Given the description of an element on the screen output the (x, y) to click on. 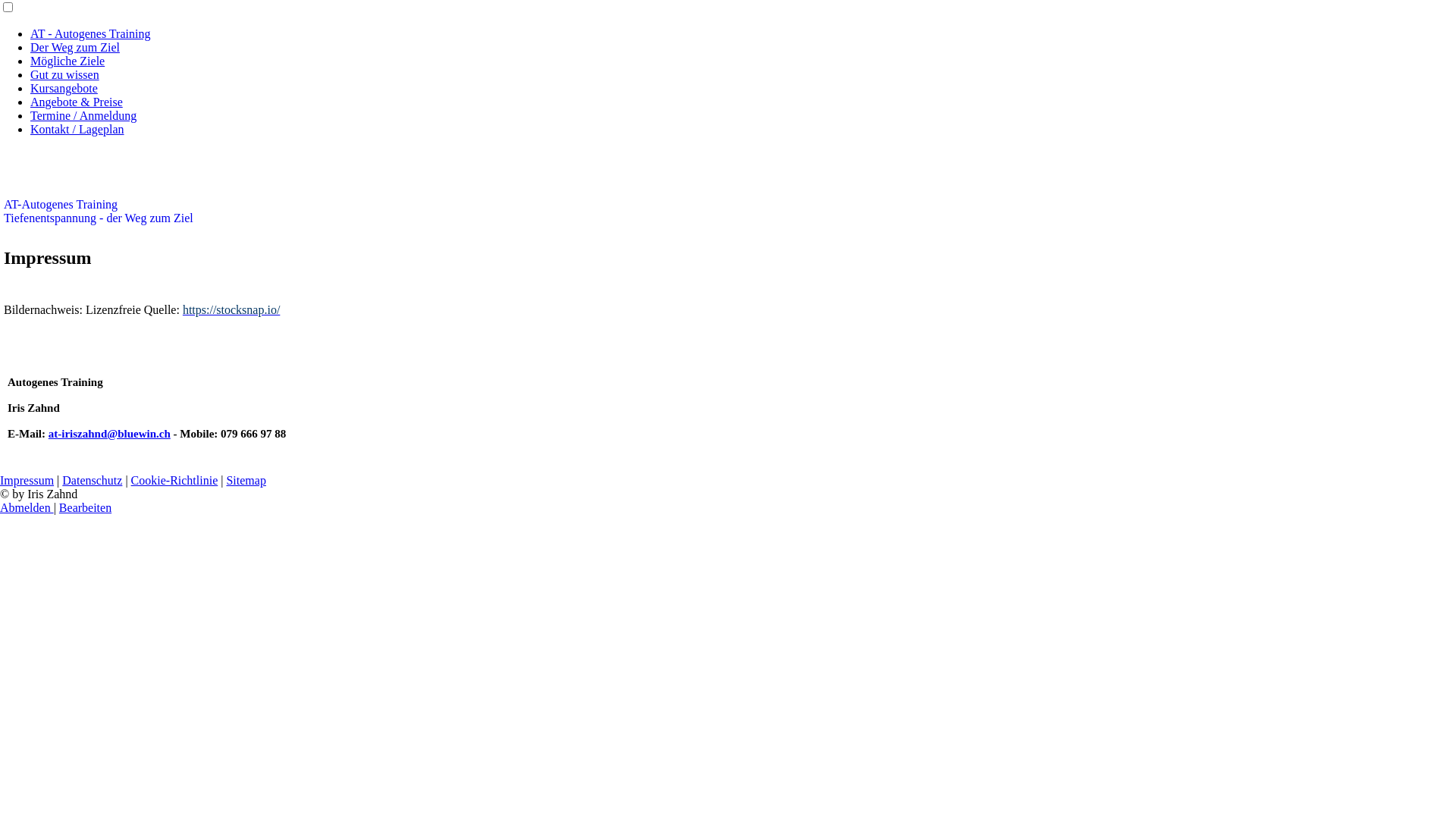
Angebote & Preise Element type: text (76, 101)
Kursangebote Element type: text (63, 87)
https://stocksnap.io/ Element type: text (230, 309)
AT-Autogenes Training
Tiefenentspannung - der Weg zum Ziel Element type: text (98, 210)
at-iriszahnd@bluewin.ch Element type: text (109, 433)
Cookie-Richtlinie Element type: text (174, 479)
Abmelden Element type: text (26, 507)
AT - Autogenes Training Element type: text (90, 33)
Termine / Anmeldung Element type: text (83, 115)
Sitemap Element type: text (245, 479)
Datenschutz Element type: text (92, 479)
Impressum Element type: text (26, 479)
Kontakt / Lageplan Element type: text (77, 128)
Gut zu wissen Element type: text (64, 74)
Bearbeiten Element type: text (85, 507)
Der Weg zum Ziel Element type: text (74, 46)
